Given the description of an element on the screen output the (x, y) to click on. 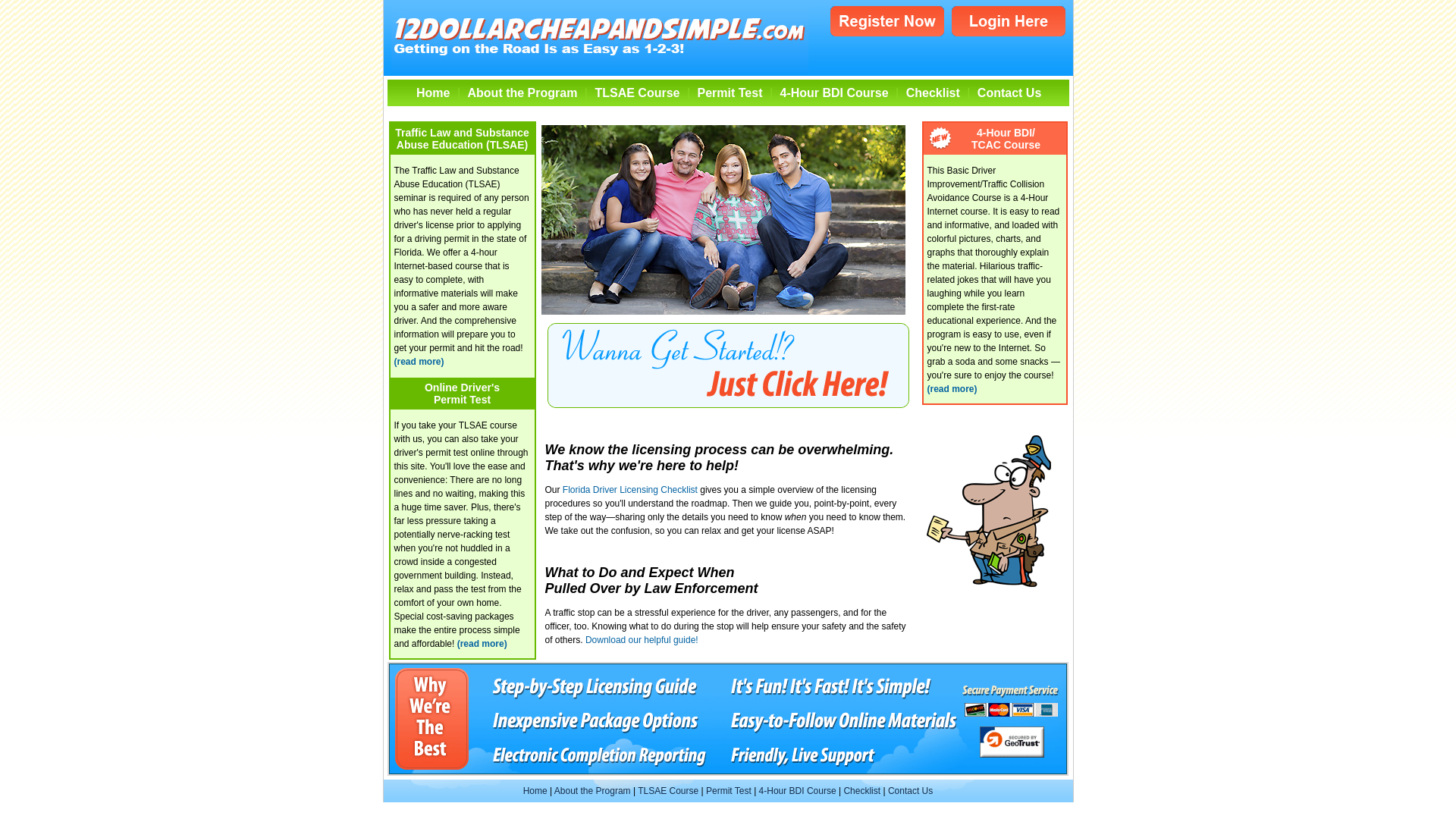
4-Hour BDI Course Element type: text (834, 92)
Contact Us Element type: text (1008, 92)
Home Element type: text (535, 790)
TLSAE Course Element type: text (636, 92)
Florida Driver Licensing Checklist Element type: text (629, 488)
About the Program Element type: text (522, 92)
4-Hour BDI Course Element type: text (797, 790)
Home Element type: text (432, 92)
About the Program Element type: text (592, 790)
Checklist Element type: text (861, 790)
(read more) Element type: text (482, 643)
(read more) Element type: text (419, 361)
Download our helpful guide! Element type: text (641, 639)
Checklist Element type: text (932, 92)
Contact Us Element type: text (910, 790)
Permit Test Element type: text (729, 92)
TLSAE Course Element type: text (667, 790)
(read more) Element type: text (951, 388)
Permit Test Element type: text (728, 790)
